Given the description of an element on the screen output the (x, y) to click on. 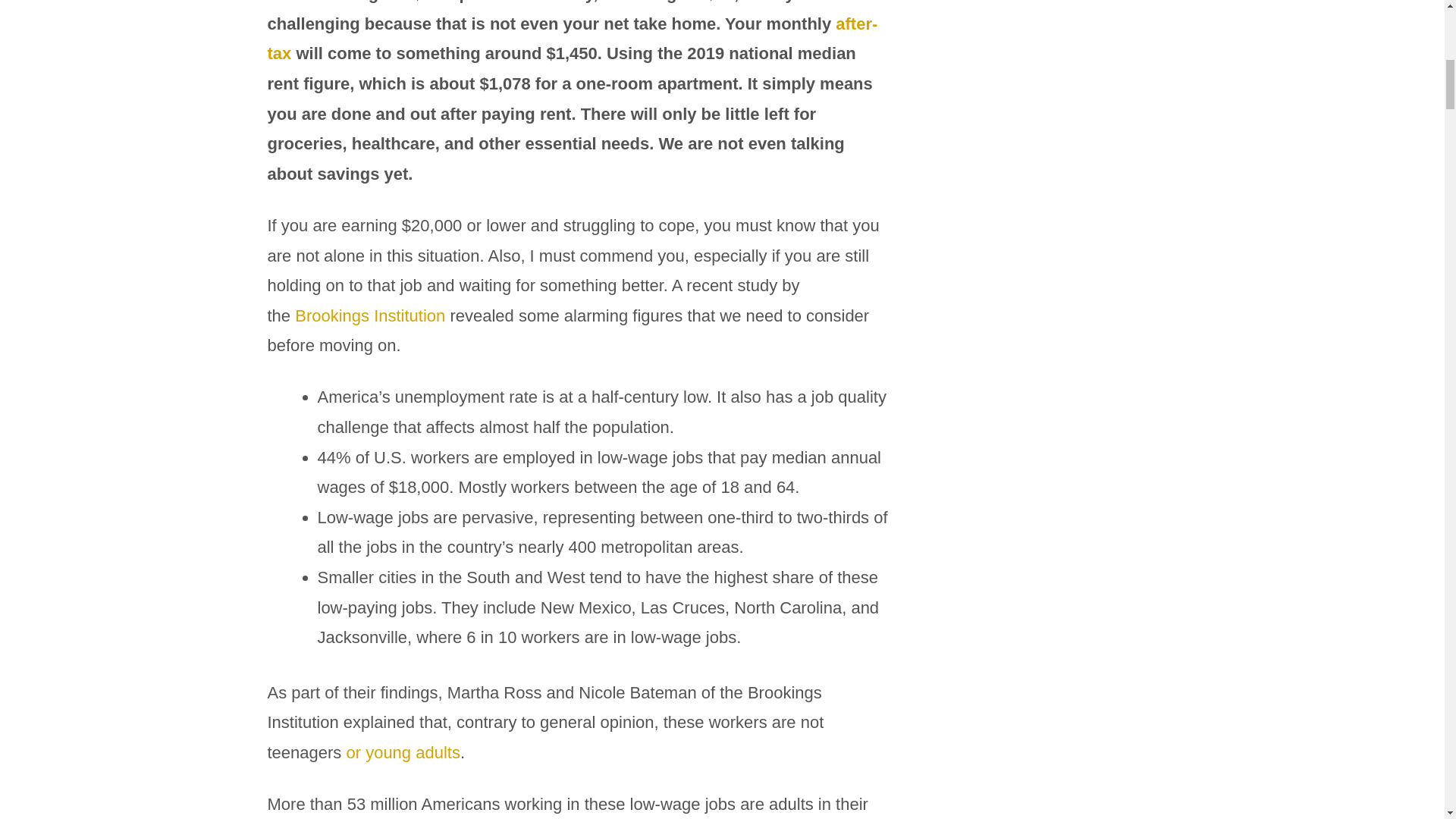
after-tax (571, 38)
Brookings Institution (370, 315)
or young adults (403, 752)
